Given the description of an element on the screen output the (x, y) to click on. 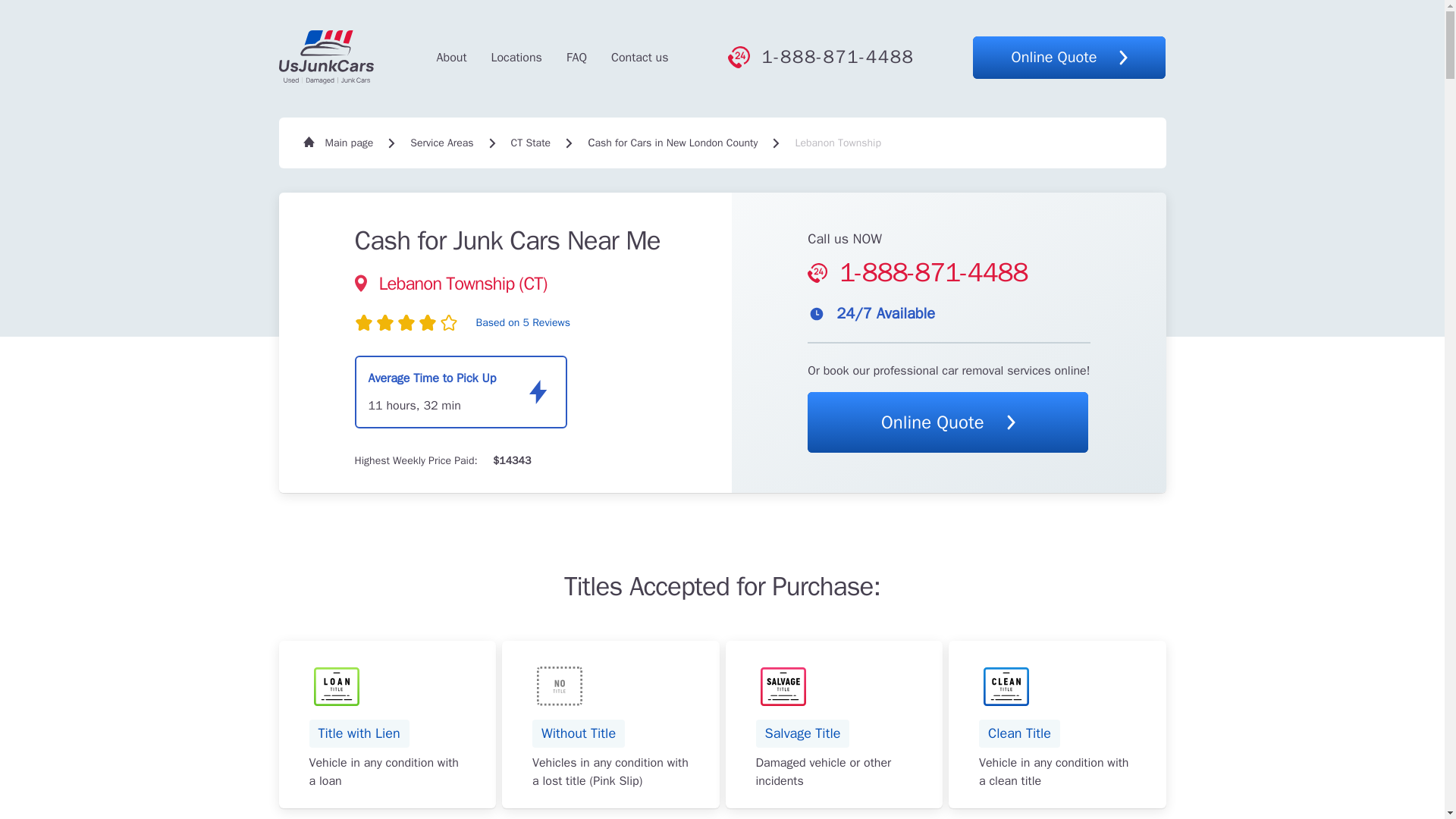
Service Areas (441, 142)
Call us (821, 56)
Main page (338, 142)
Contact us (639, 57)
Online Quote (947, 422)
1-888-871-4488 (821, 56)
Locations (387, 724)
CT State (515, 57)
Online Quote (531, 142)
FAQ (1069, 57)
About (576, 57)
1-888-871-4488 (451, 57)
